Given the description of an element on the screen output the (x, y) to click on. 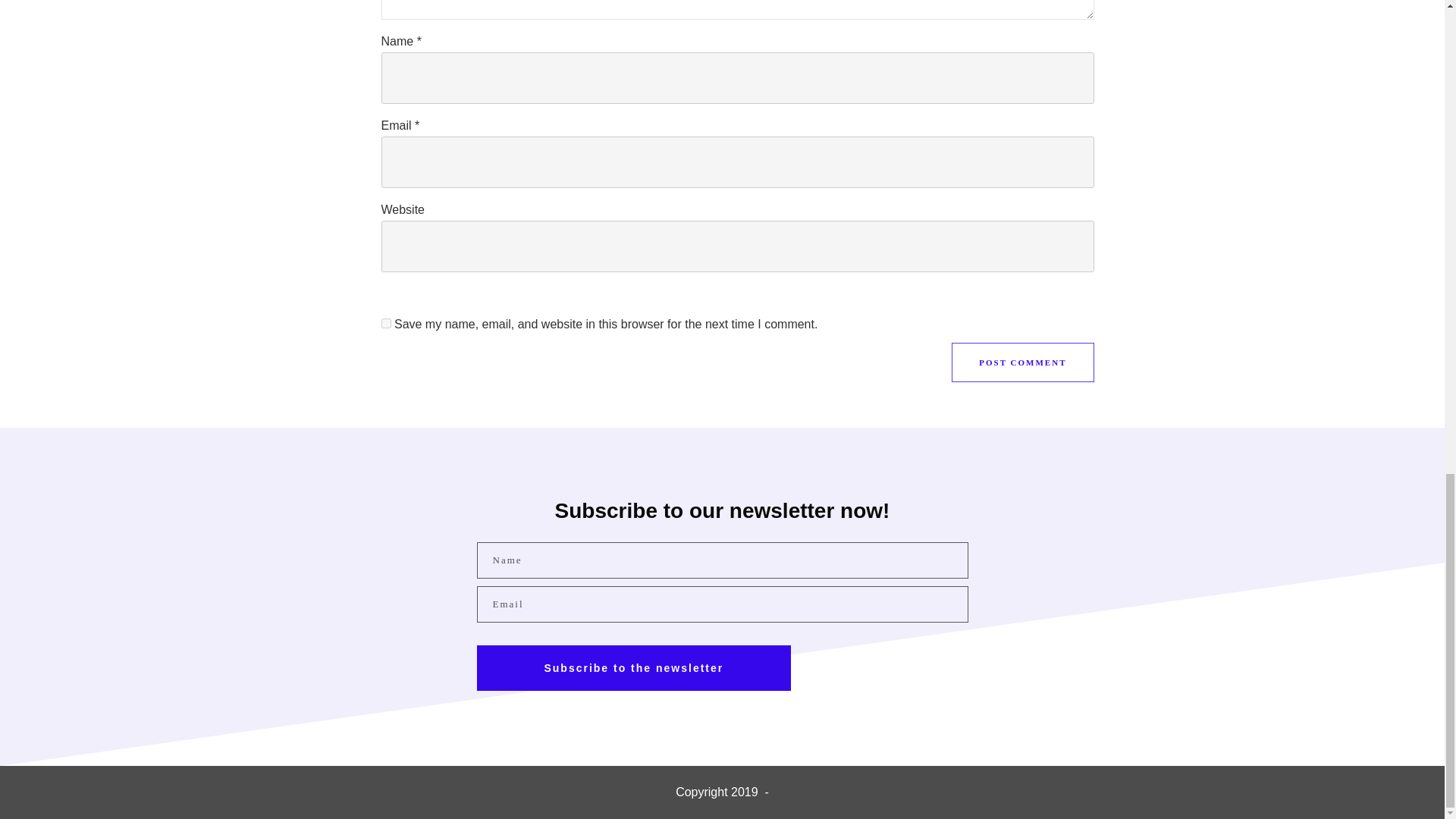
yes (385, 323)
Subscribe to the newsletter (633, 668)
POST COMMENT (1022, 362)
